Given the description of an element on the screen output the (x, y) to click on. 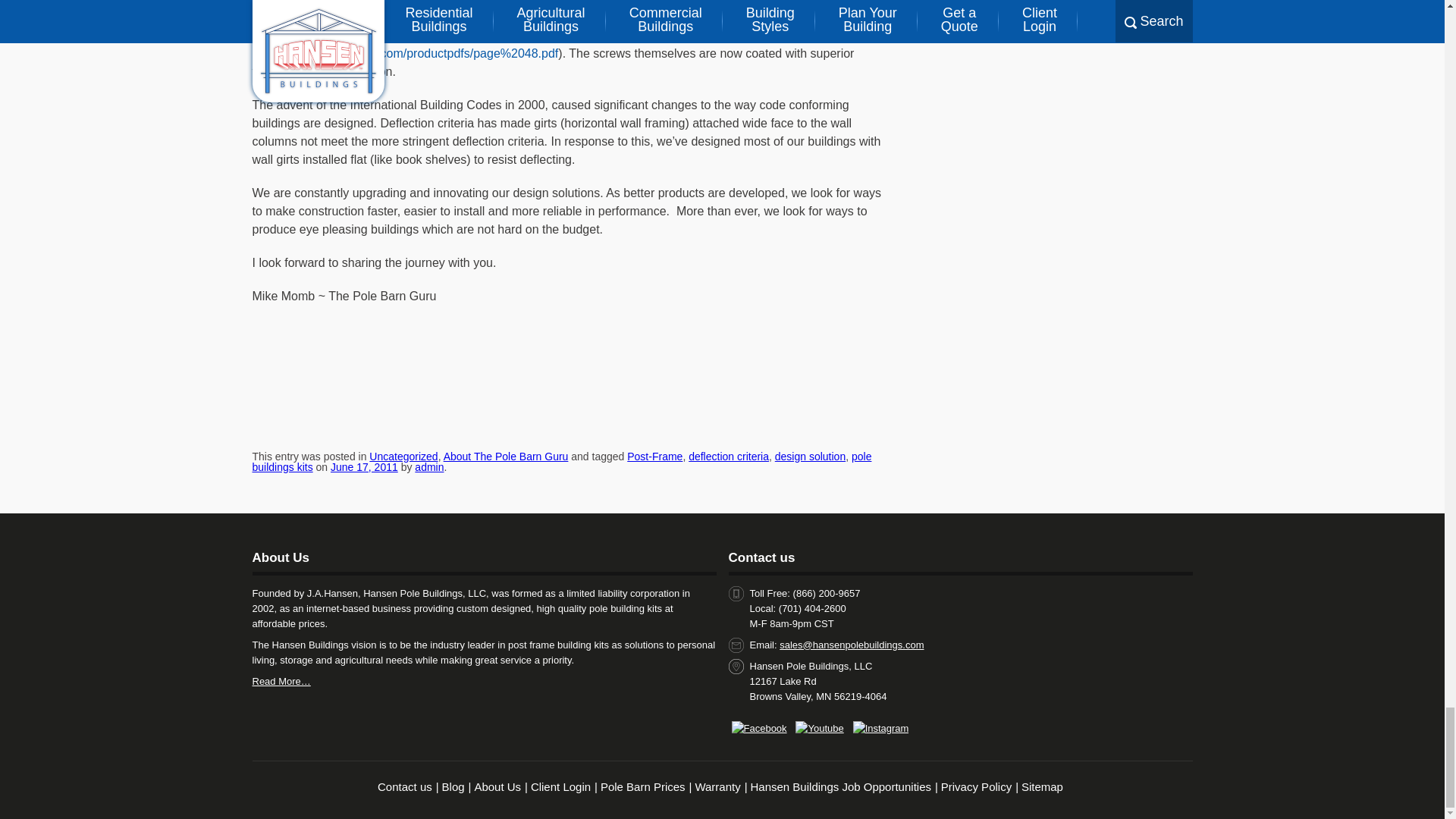
Instagram (880, 727)
Youtube (818, 727)
View all posts by admin (429, 467)
Facebook (758, 727)
8:00 am (363, 467)
